Given the description of an element on the screen output the (x, y) to click on. 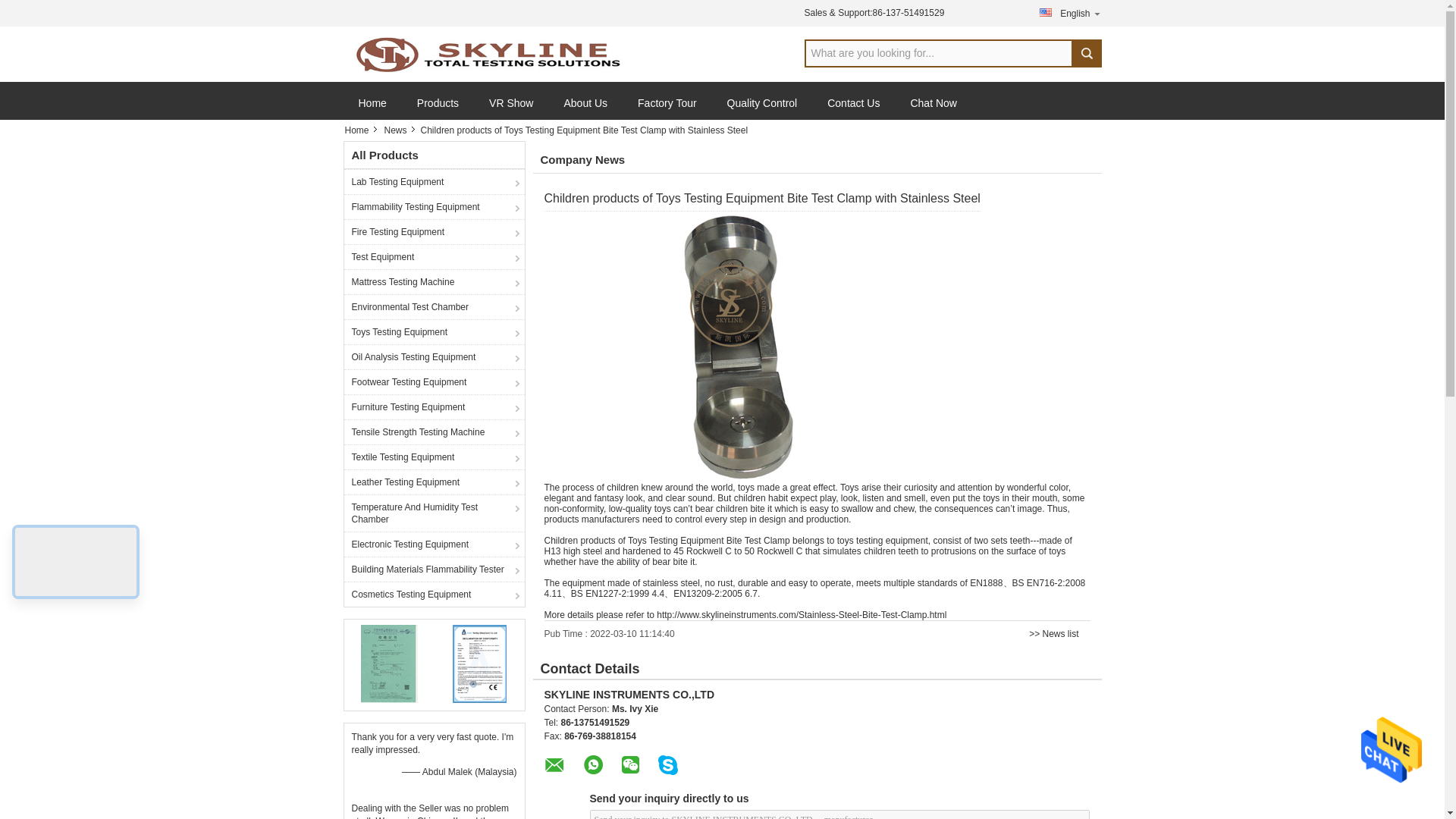
Test Equipment (433, 256)
Contact Us (853, 109)
Fire Testing Equipment (433, 231)
Home (371, 109)
Home (360, 130)
Products (437, 109)
VR Show (511, 109)
Quality Control (761, 109)
SKYLINE INSTRUMENTS CO.,LTD (486, 54)
Search (1085, 53)
Factory Tour (667, 109)
About Us (585, 109)
Flammability Testing Equipment (433, 206)
Lab Testing Equipment (433, 181)
News (397, 130)
